Given the description of an element on the screen output the (x, y) to click on. 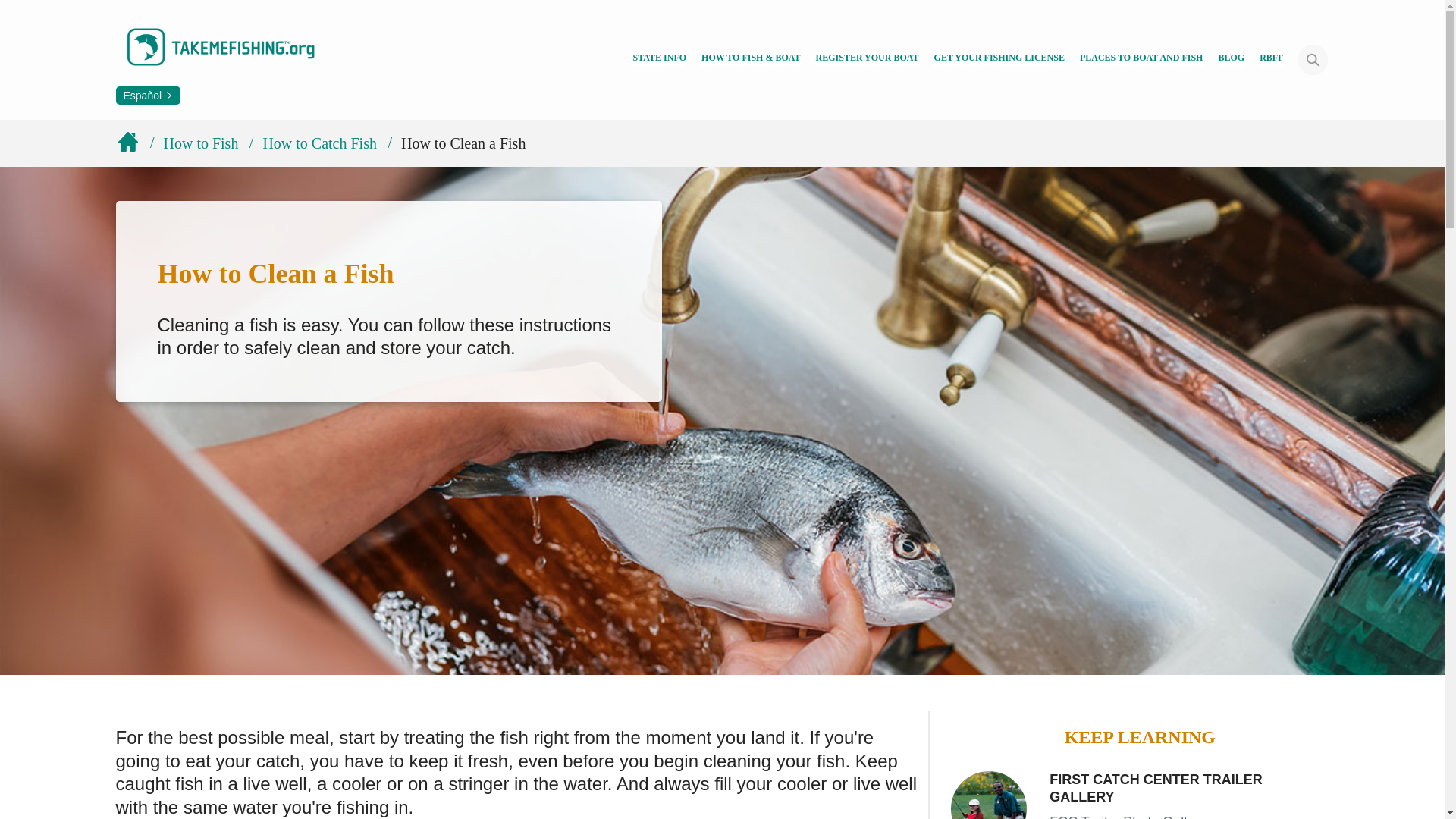
Blog (1230, 59)
RBFF (1270, 59)
RBFF (1270, 59)
REGISTER YOUR BOAT (866, 59)
BLOG (1230, 59)
Places To Boat And Fish (1142, 59)
GET YOUR FISHING LICENSE (999, 59)
Register Your Boat (866, 59)
PLACES TO BOAT AND FISH (1142, 59)
Get Your Fishing License (999, 59)
